Given the description of an element on the screen output the (x, y) to click on. 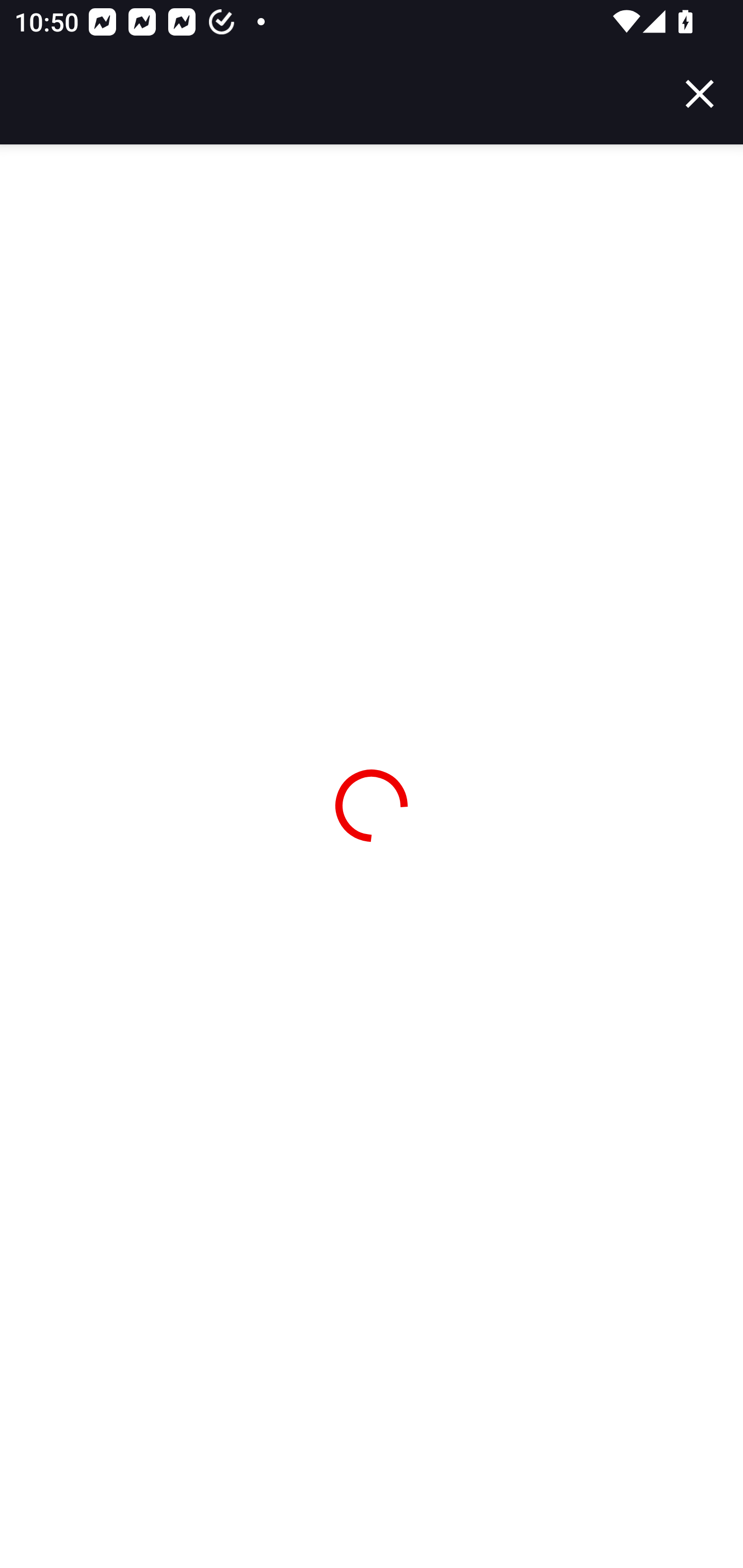
Close (699, 93)
